Given the description of an element on the screen output the (x, y) to click on. 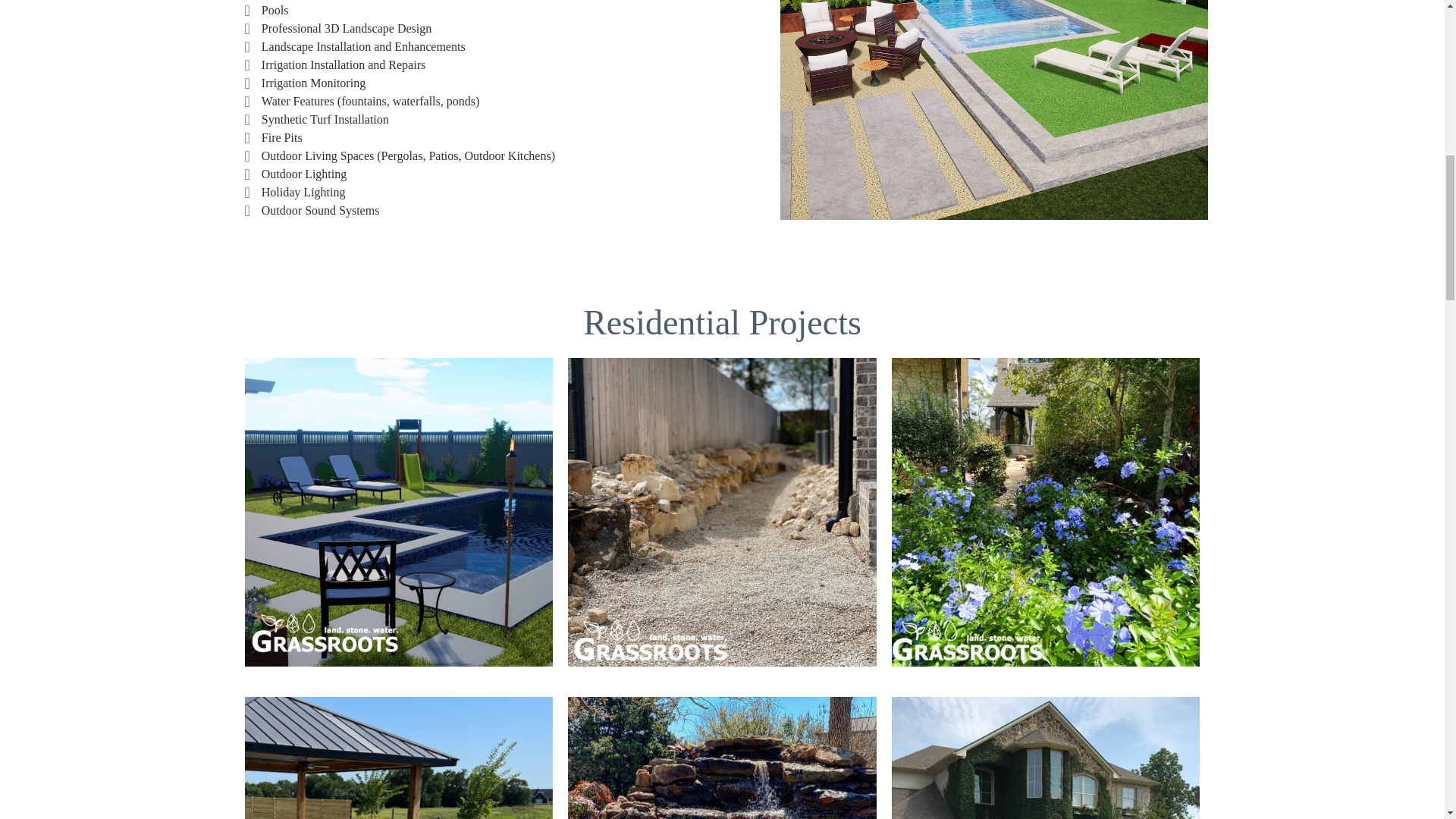
Grassroots BCS (398, 511)
Grassroots BCS (1045, 511)
Grassroots BCS (721, 511)
Grassroots BCS (398, 757)
Grassroots BCS (721, 757)
